Given the description of an element on the screen output the (x, y) to click on. 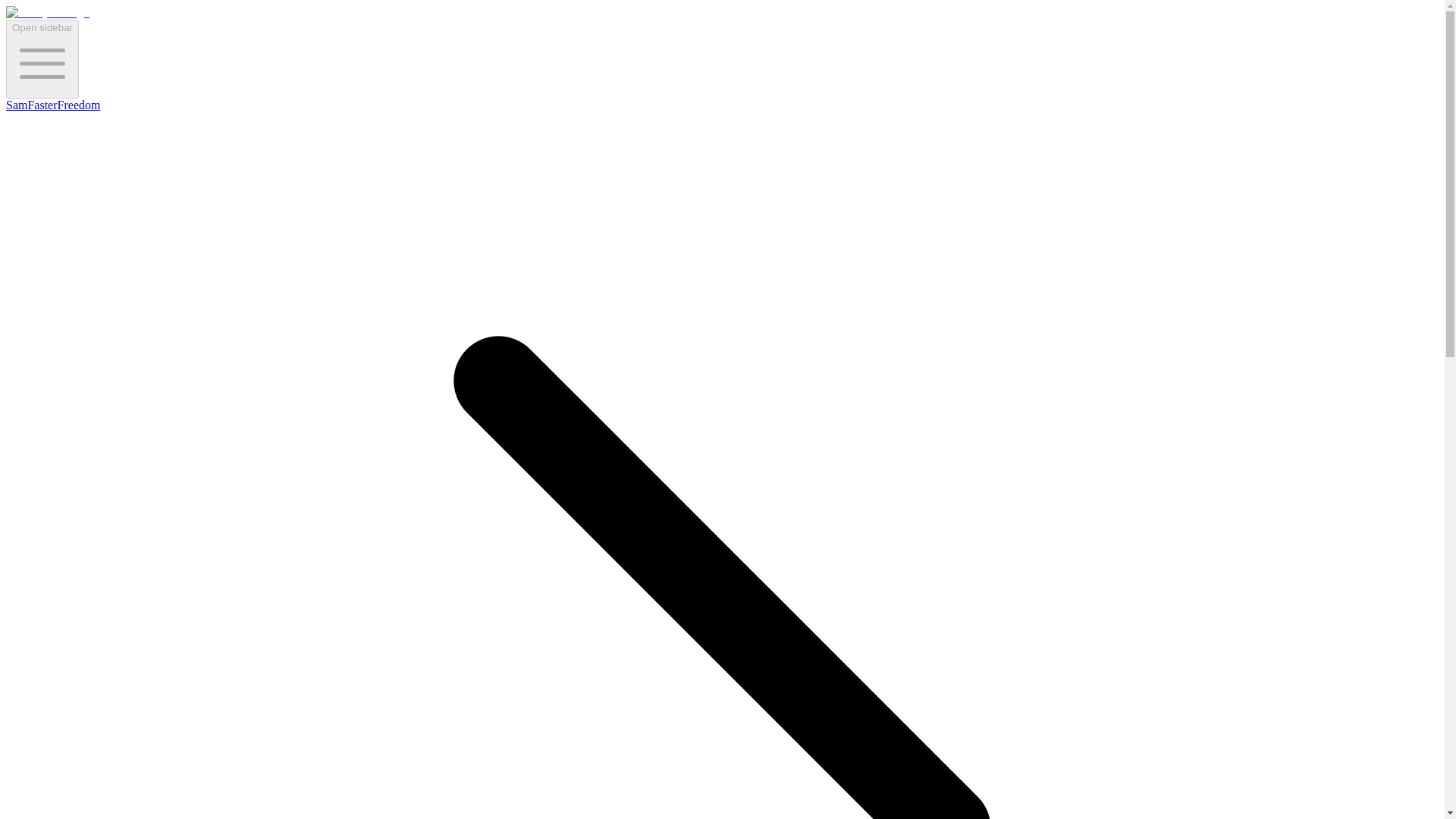
Open sidebar (41, 58)
SamFasterFreedom (52, 104)
